Given the description of an element on the screen output the (x, y) to click on. 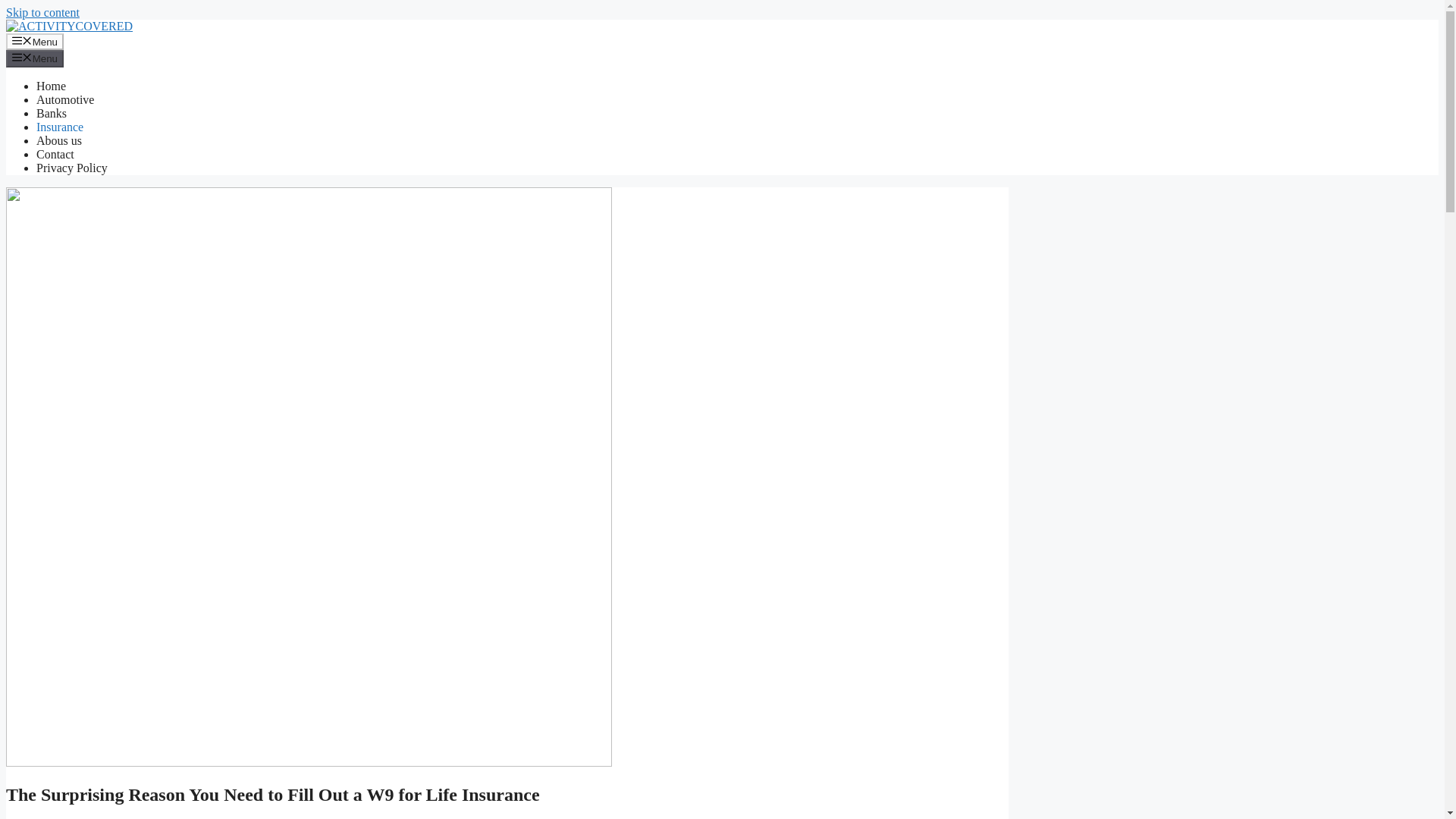
Skip to content (42, 11)
ACTIVITYCOVERED (68, 25)
Home (50, 85)
Contact (55, 154)
Automotive (65, 99)
Banks (51, 113)
ACTIVITYCOVERED (68, 26)
Abous us (58, 140)
Skip to content (42, 11)
Insurance (59, 126)
Menu (34, 41)
Menu (34, 57)
Privacy Policy (71, 167)
